Given the description of an element on the screen output the (x, y) to click on. 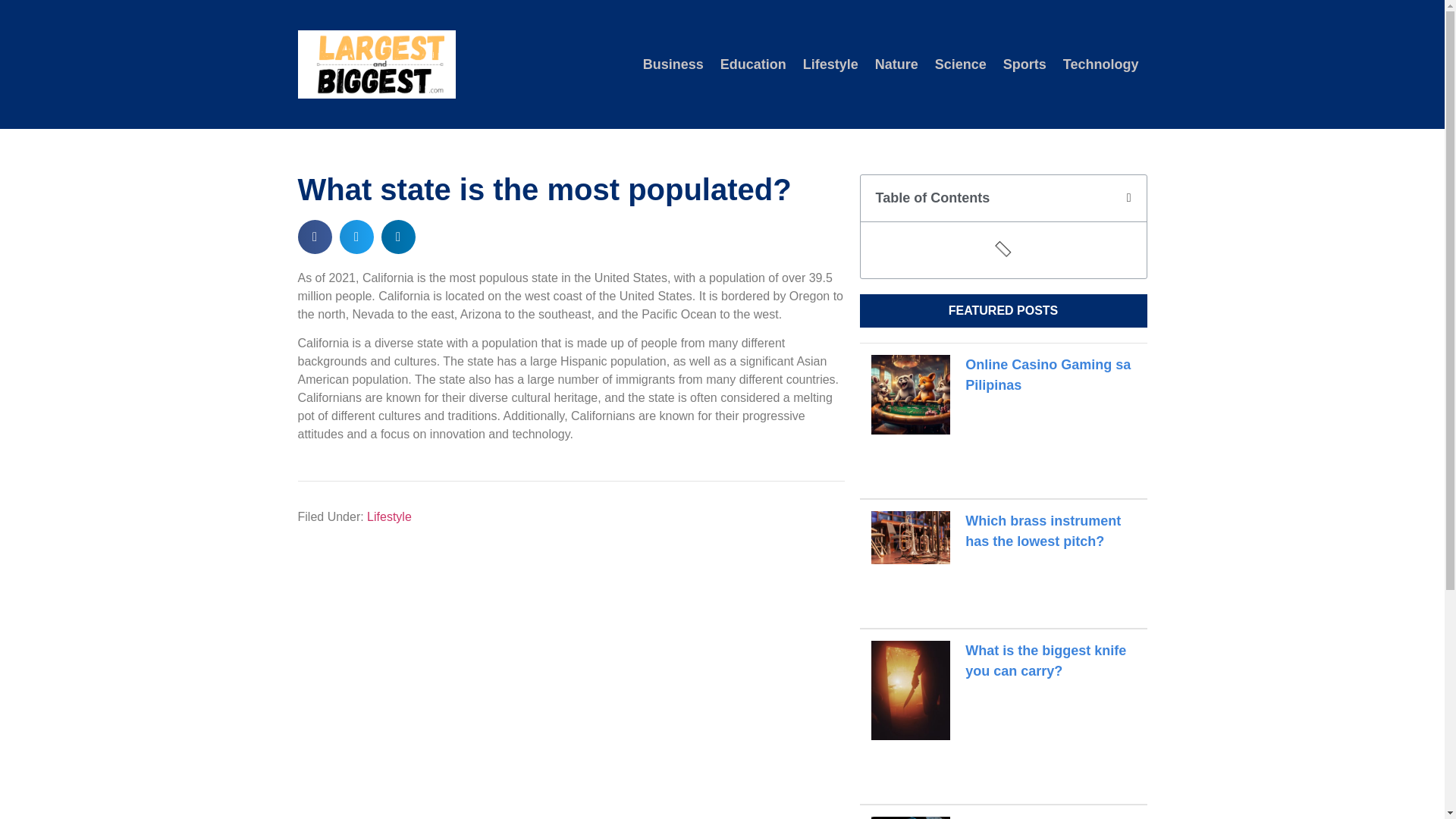
What is the biggest knife you can carry? (1045, 660)
Sports (1024, 63)
Technology (1100, 63)
Nature (896, 63)
Business (672, 63)
Lifestyle (830, 63)
Education (752, 63)
Which brass instrument has the lowest pitch? (1043, 530)
Online Casino Gaming sa Pilipinas (1048, 375)
Science (960, 63)
